Given the description of an element on the screen output the (x, y) to click on. 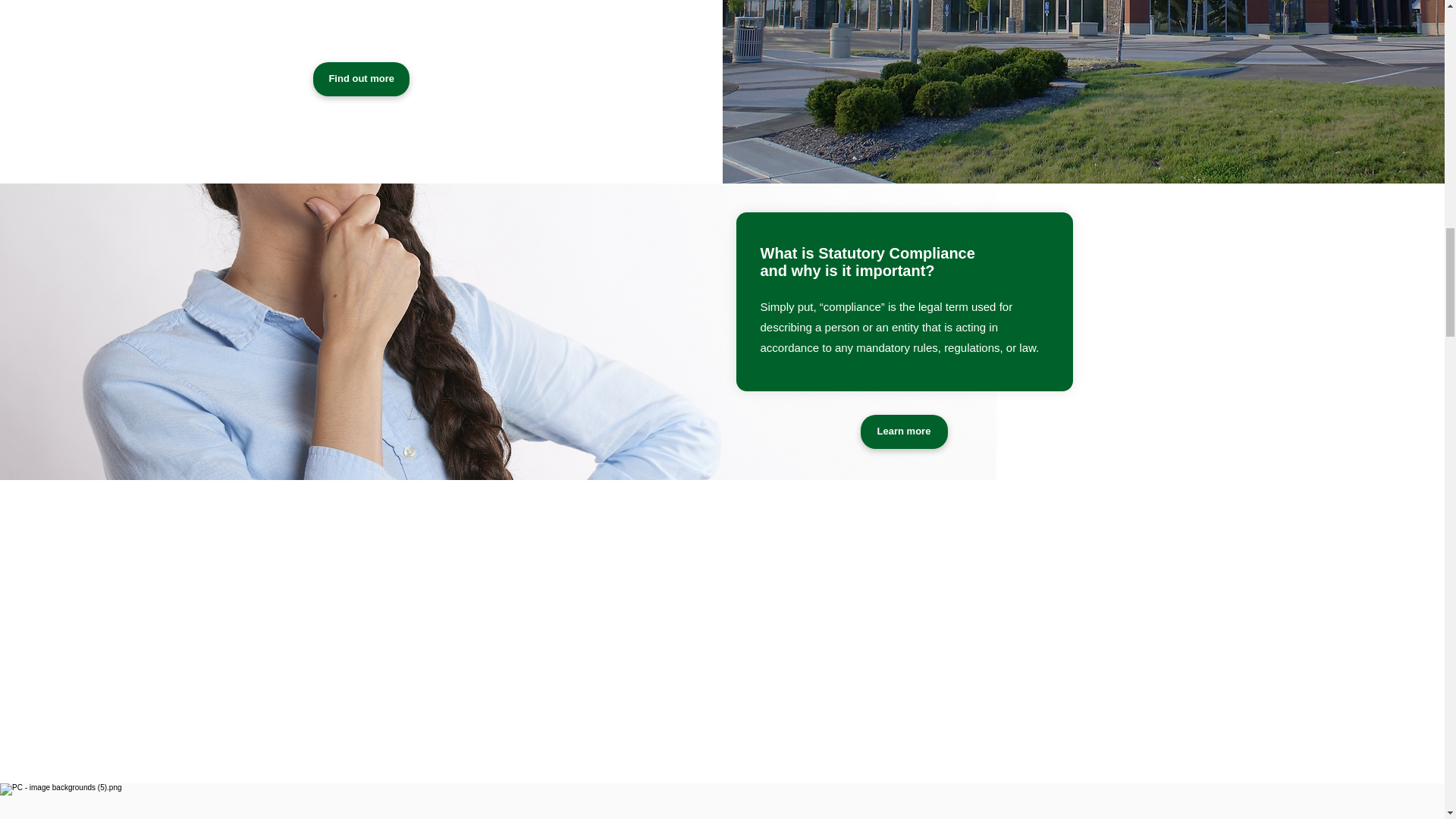
Find out more (361, 79)
Learn more (903, 431)
